Given the description of an element on the screen output the (x, y) to click on. 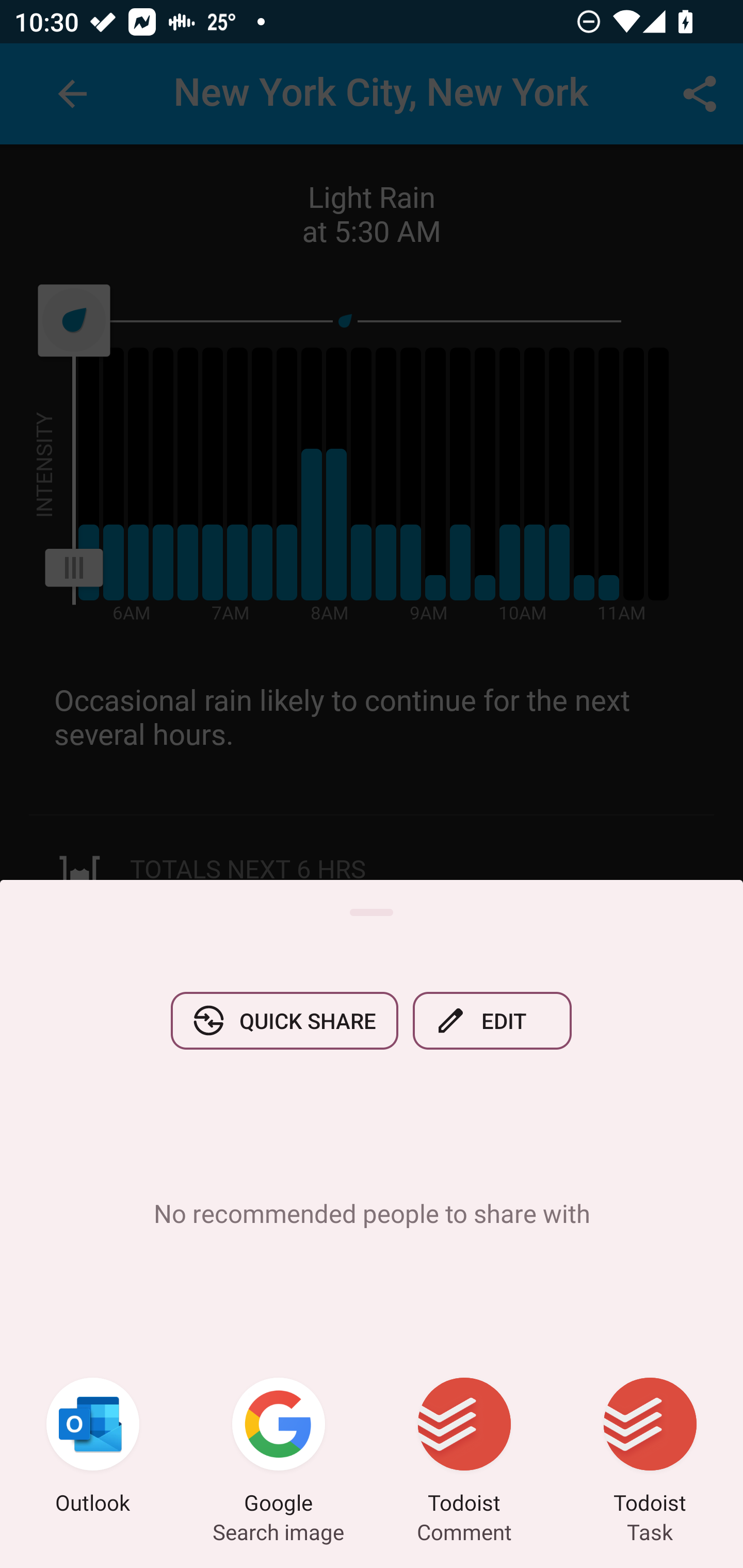
QUICK SHARE (284, 1020)
EDIT (492, 1020)
Outlook (92, 1448)
Google Search image (278, 1448)
Todoist Comment (464, 1448)
Todoist Task (650, 1448)
